Given the description of an element on the screen output the (x, y) to click on. 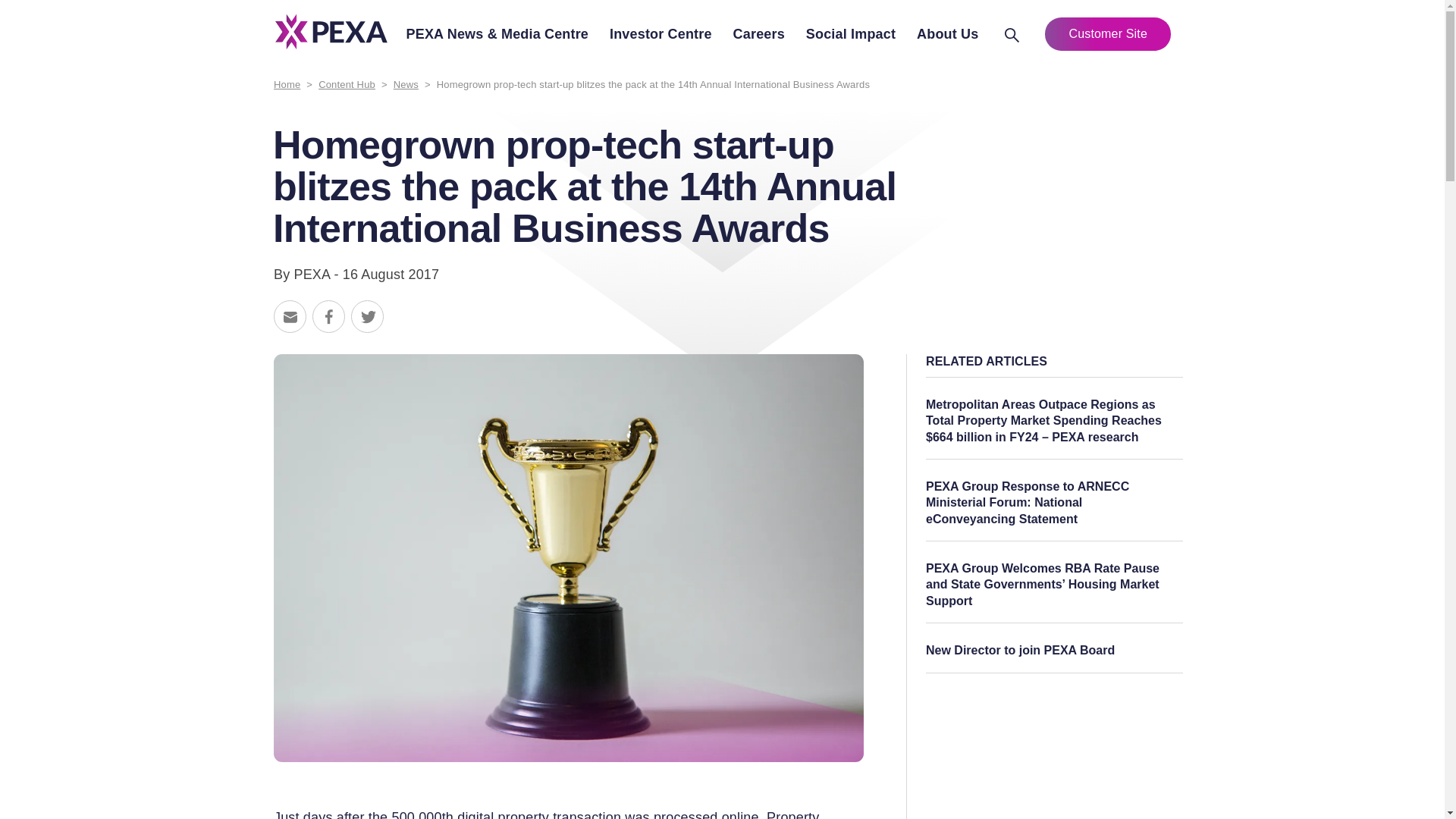
Careers (758, 34)
Social Impact (850, 34)
Customer Site (1107, 33)
About Us (947, 34)
Investor Centre (660, 34)
